Given the description of an element on the screen output the (x, y) to click on. 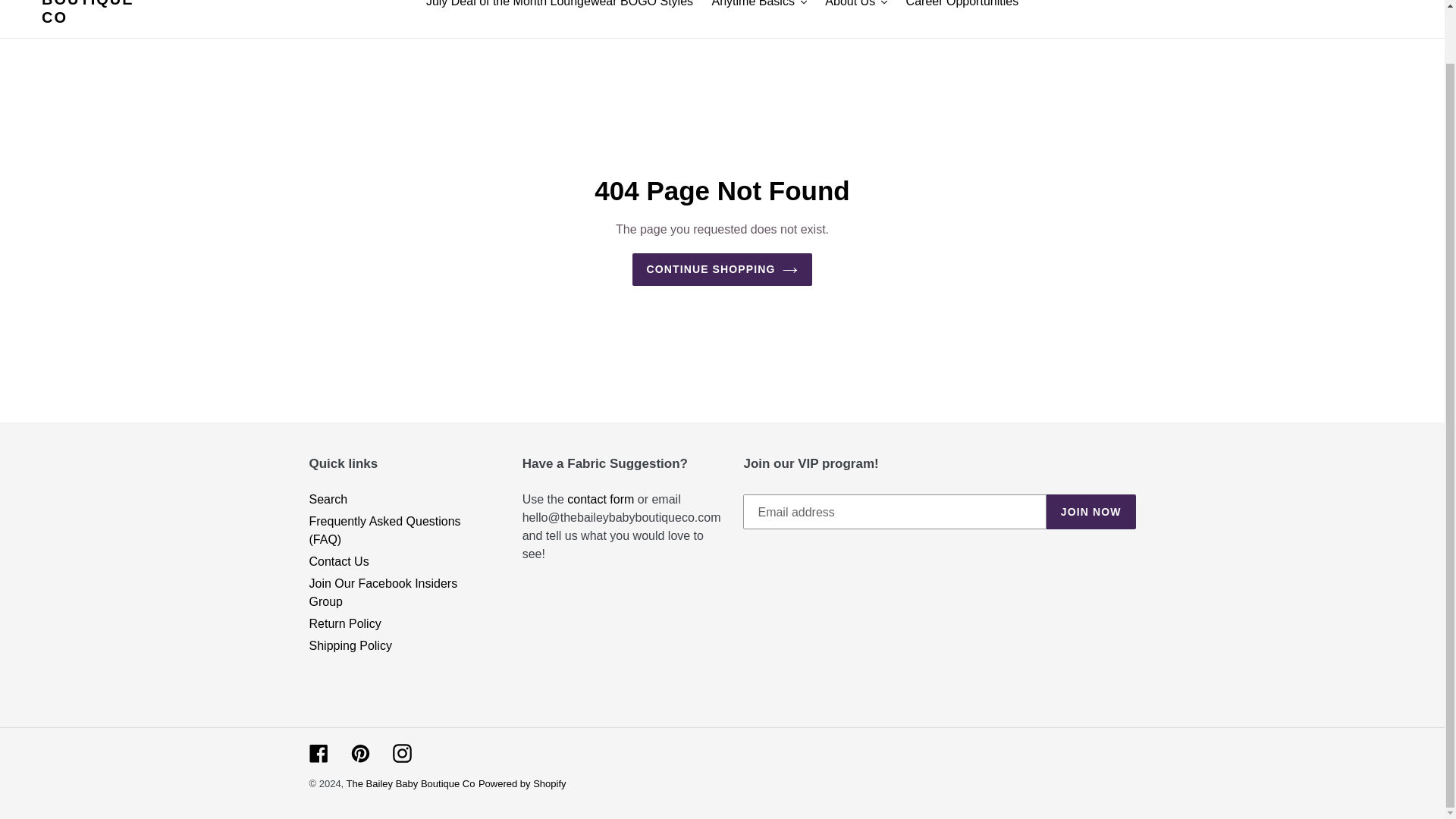
Contact Us (600, 499)
Submit (1268, 3)
Cart (1340, 3)
Career Opportunities (962, 6)
Log in (1304, 3)
July Deal of the Month Loungewear BOGO Styles (559, 6)
